Given the description of an element on the screen output the (x, y) to click on. 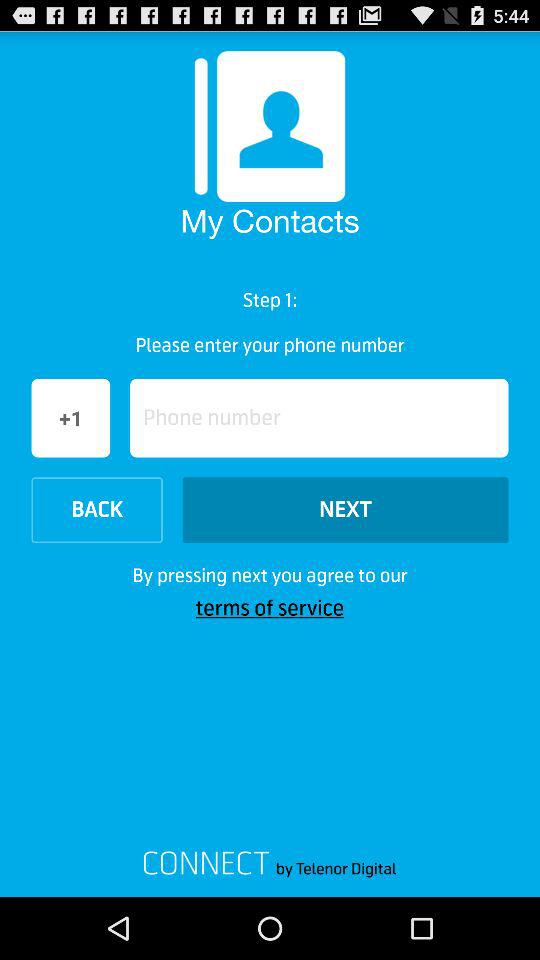
enter your phone number (319, 417)
